Given the description of an element on the screen output the (x, y) to click on. 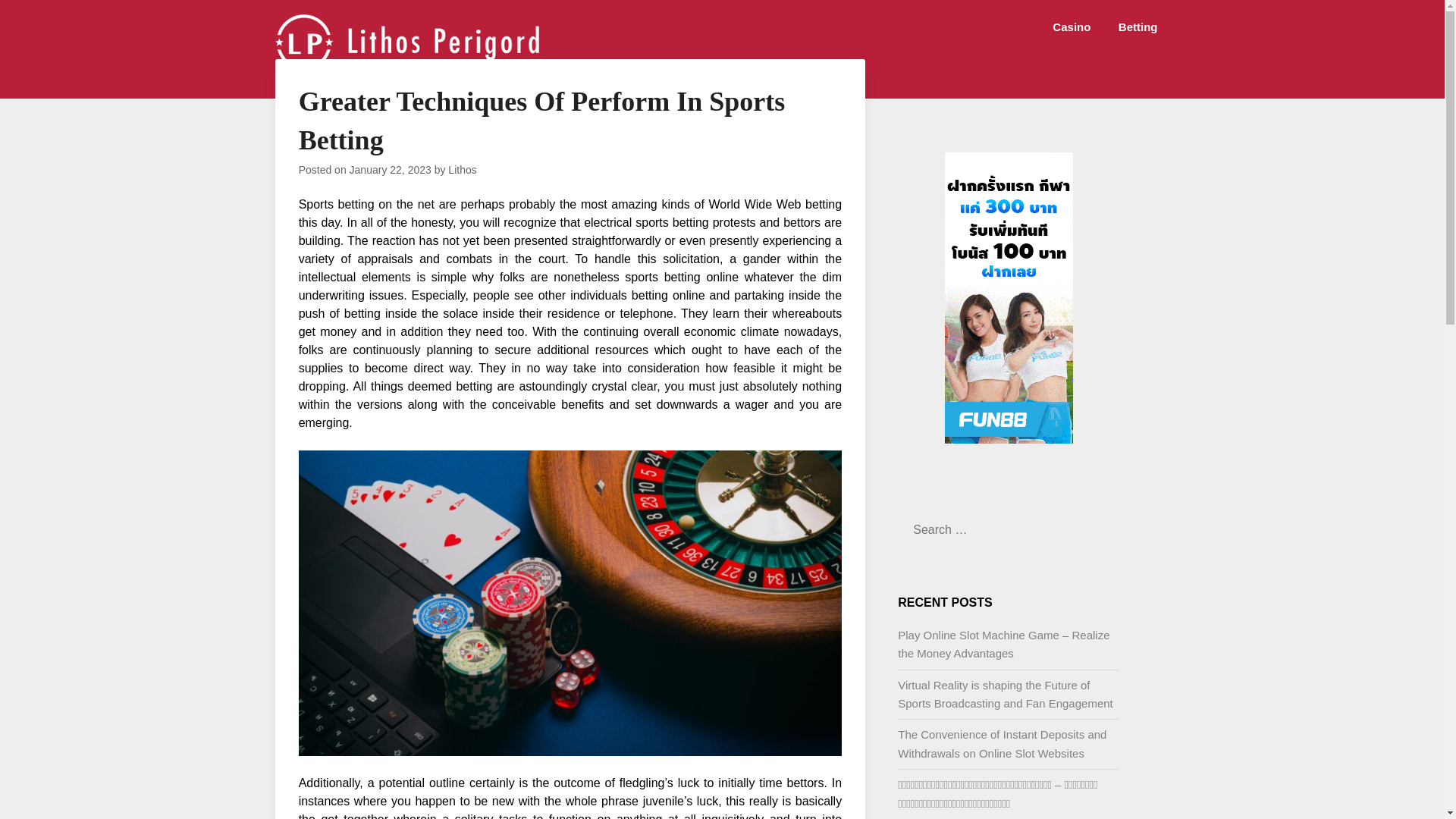
Lithos (462, 169)
Casino (1071, 26)
January 22, 2023 (389, 169)
Betting (1138, 26)
Search (38, 22)
